Given the description of an element on the screen output the (x, y) to click on. 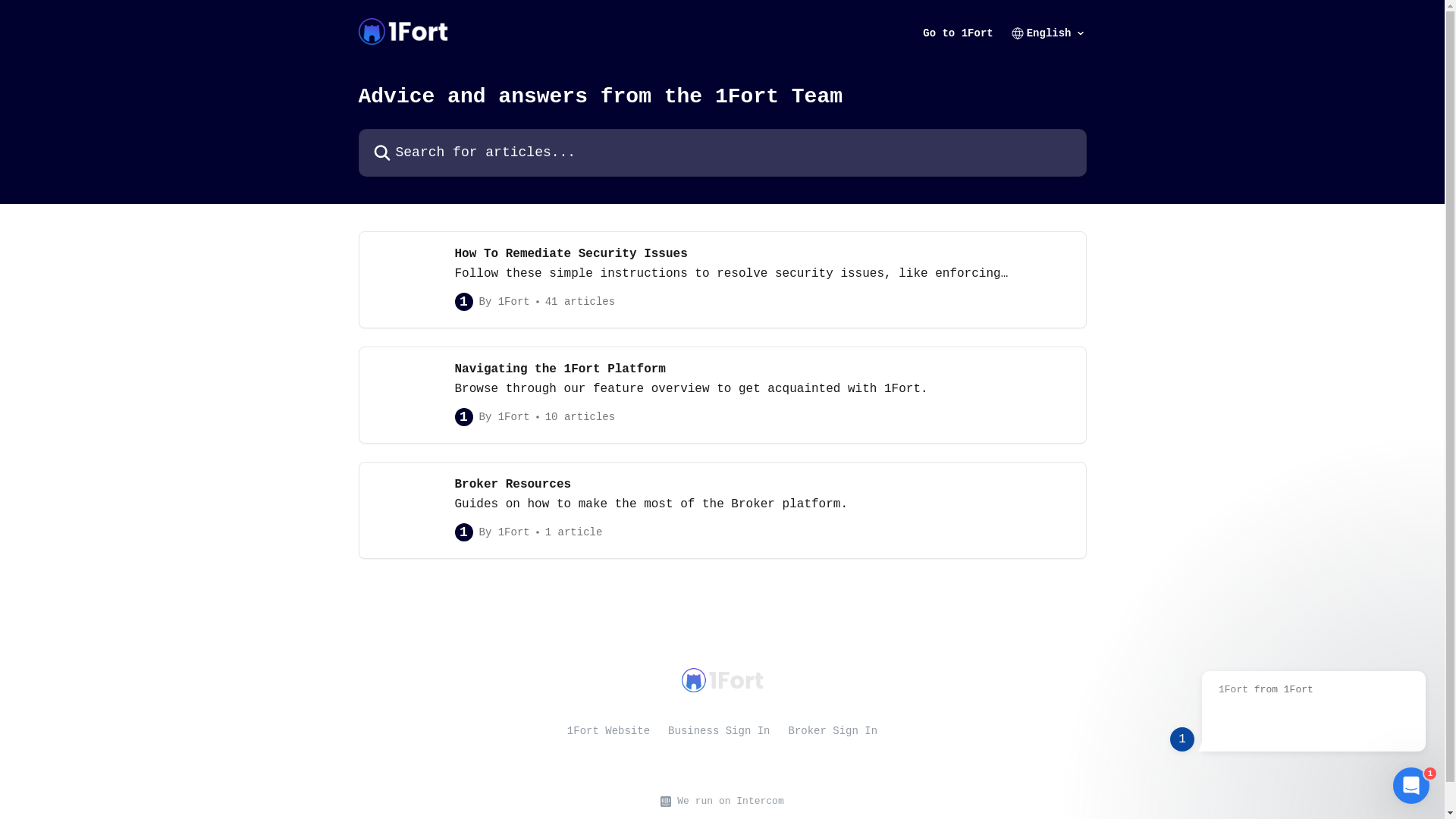
Intercom live chat Element type: hover (1411, 785)
We run on Intercom Element type: text (727, 801)
Intercom live chat message Element type: hover (1296, 692)
Broker Sign In Element type: text (833, 730)
Go to 1Fort Element type: text (957, 32)
1Fort Website Element type: text (608, 730)
Business Sign In Element type: text (718, 730)
